Given the description of an element on the screen output the (x, y) to click on. 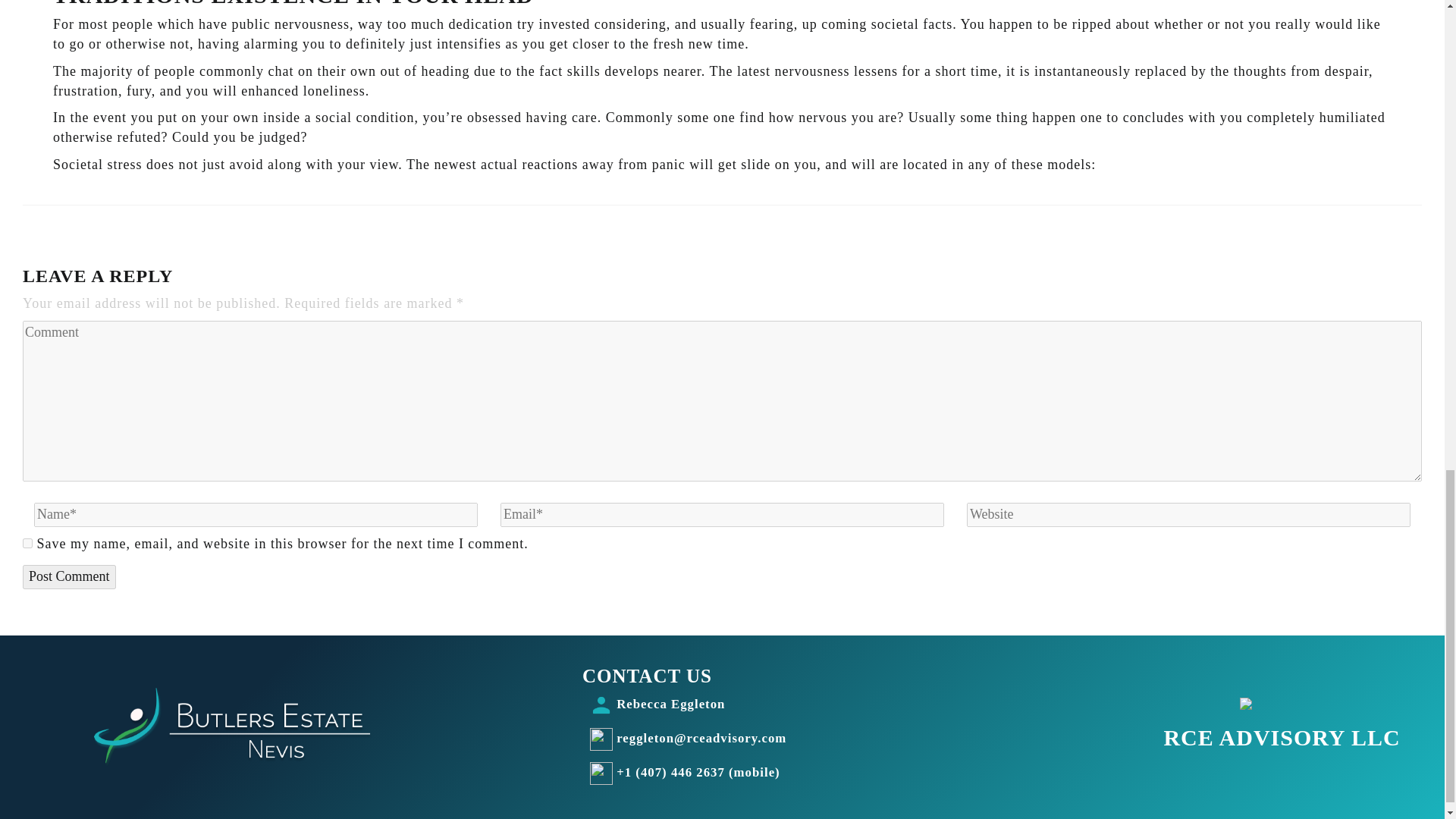
Post Comment (69, 576)
yes (27, 542)
Post Comment (69, 576)
